Given the description of an element on the screen output the (x, y) to click on. 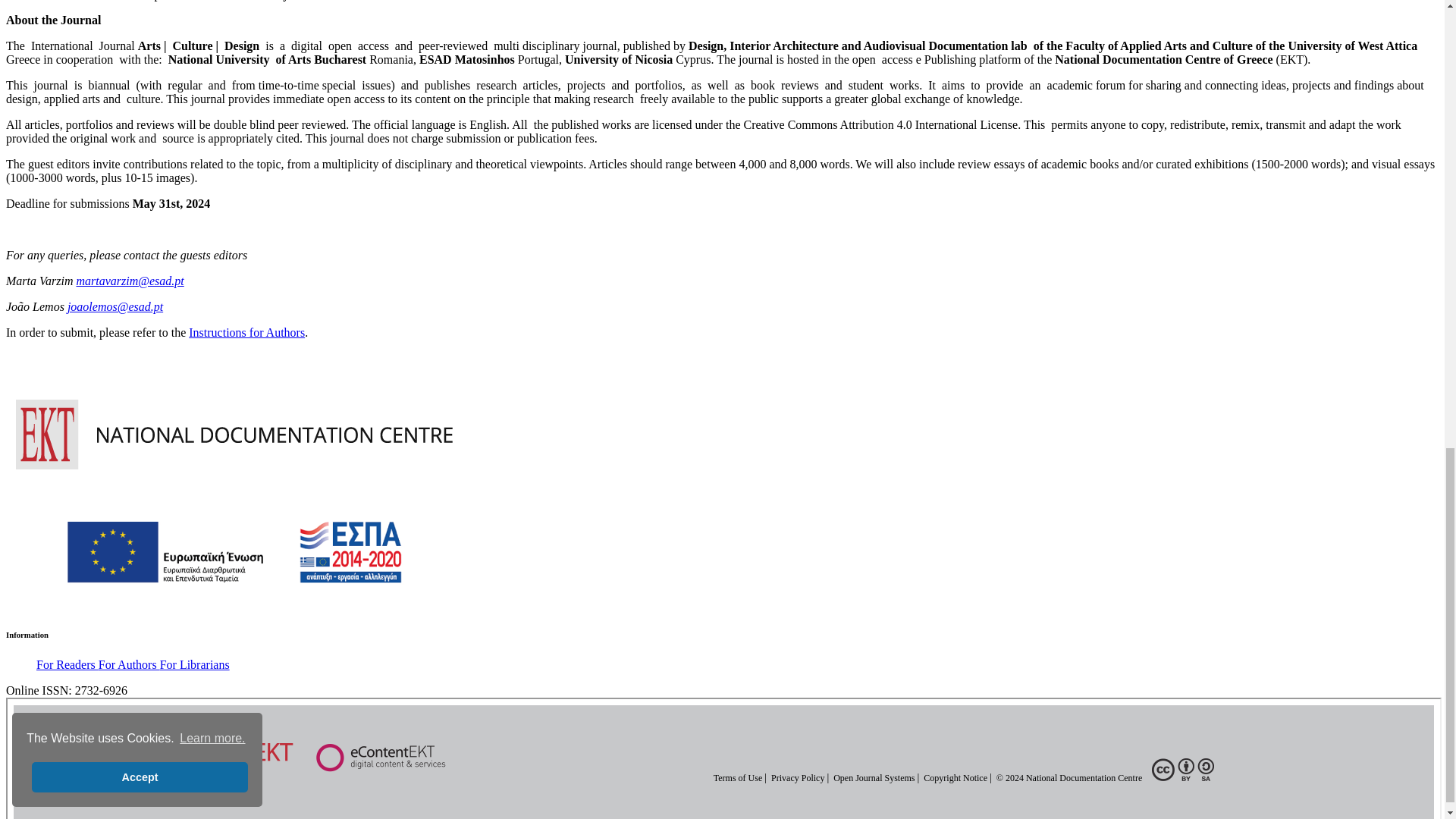
For Authors (129, 664)
Instructions for Authors (246, 332)
For Librarians (195, 664)
For Readers (67, 664)
